Given the description of an element on the screen output the (x, y) to click on. 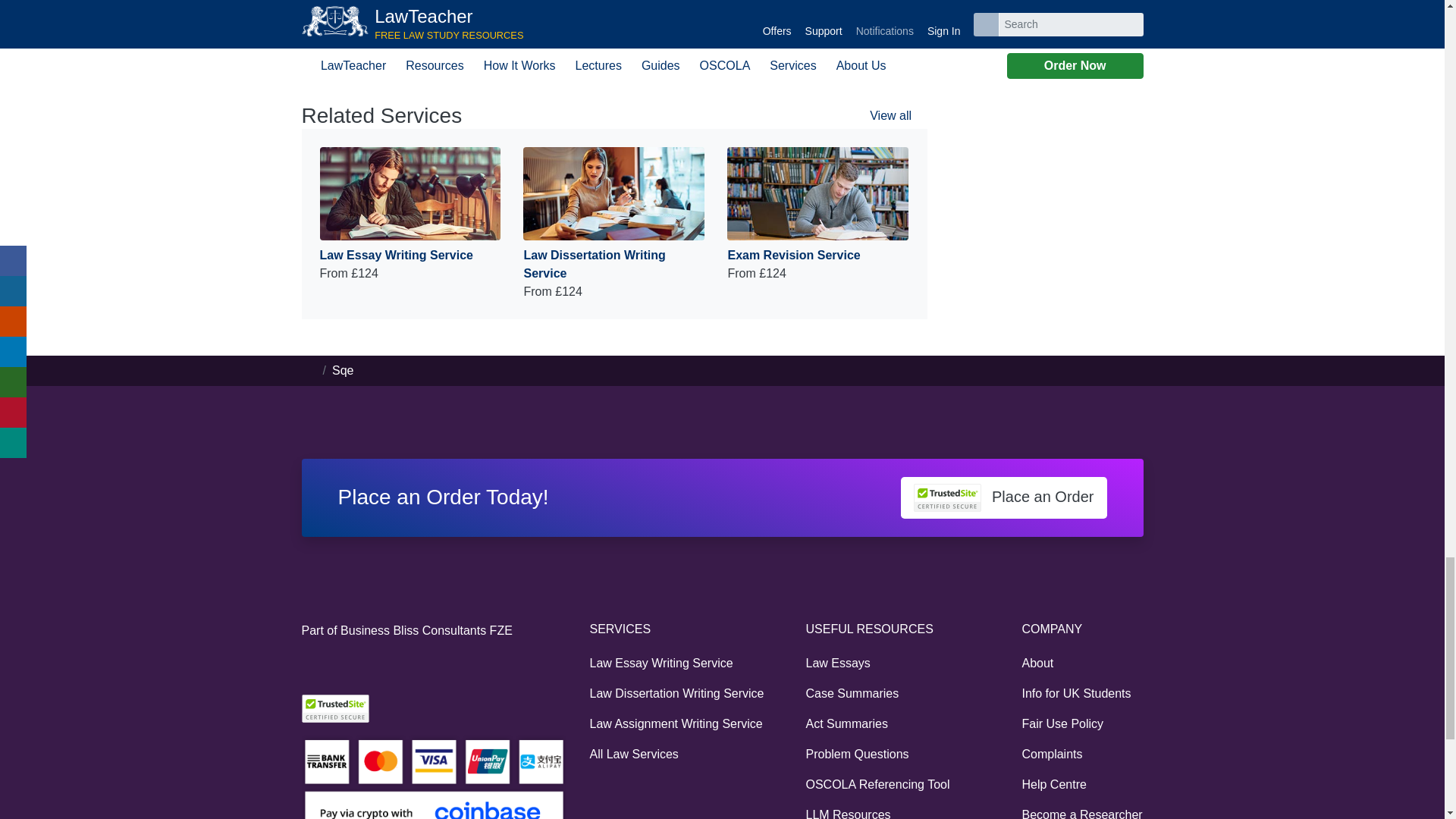
homepage link (309, 369)
